Given the description of an element on the screen output the (x, y) to click on. 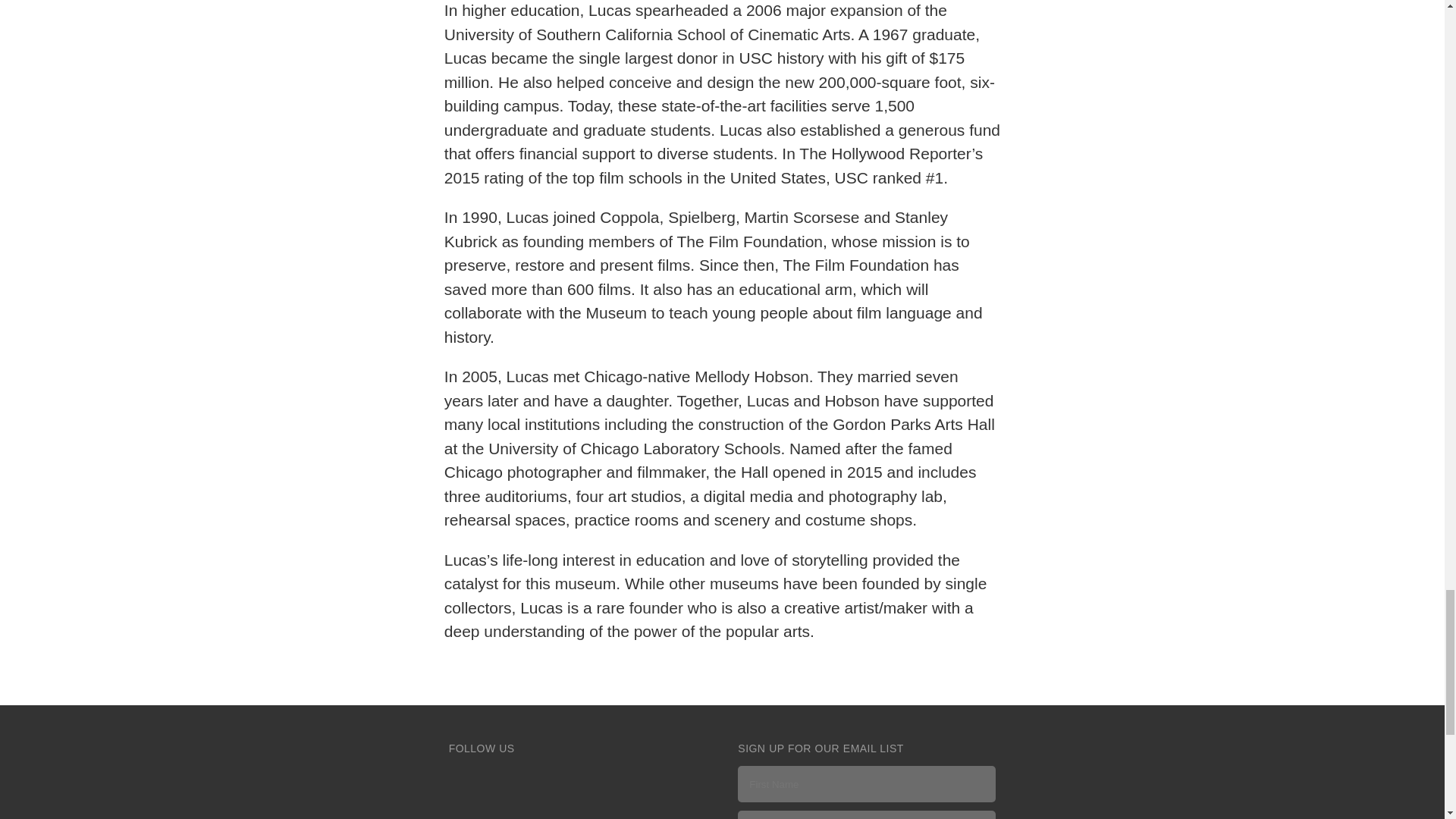
Twitter (507, 780)
YouTube (597, 780)
Facebook (463, 780)
YouTube (597, 780)
Instagram (552, 780)
LinkedIn (641, 780)
Facebook (463, 780)
Instagram (552, 780)
Twitter (507, 780)
LinkedIn (641, 780)
